Given the description of an element on the screen output the (x, y) to click on. 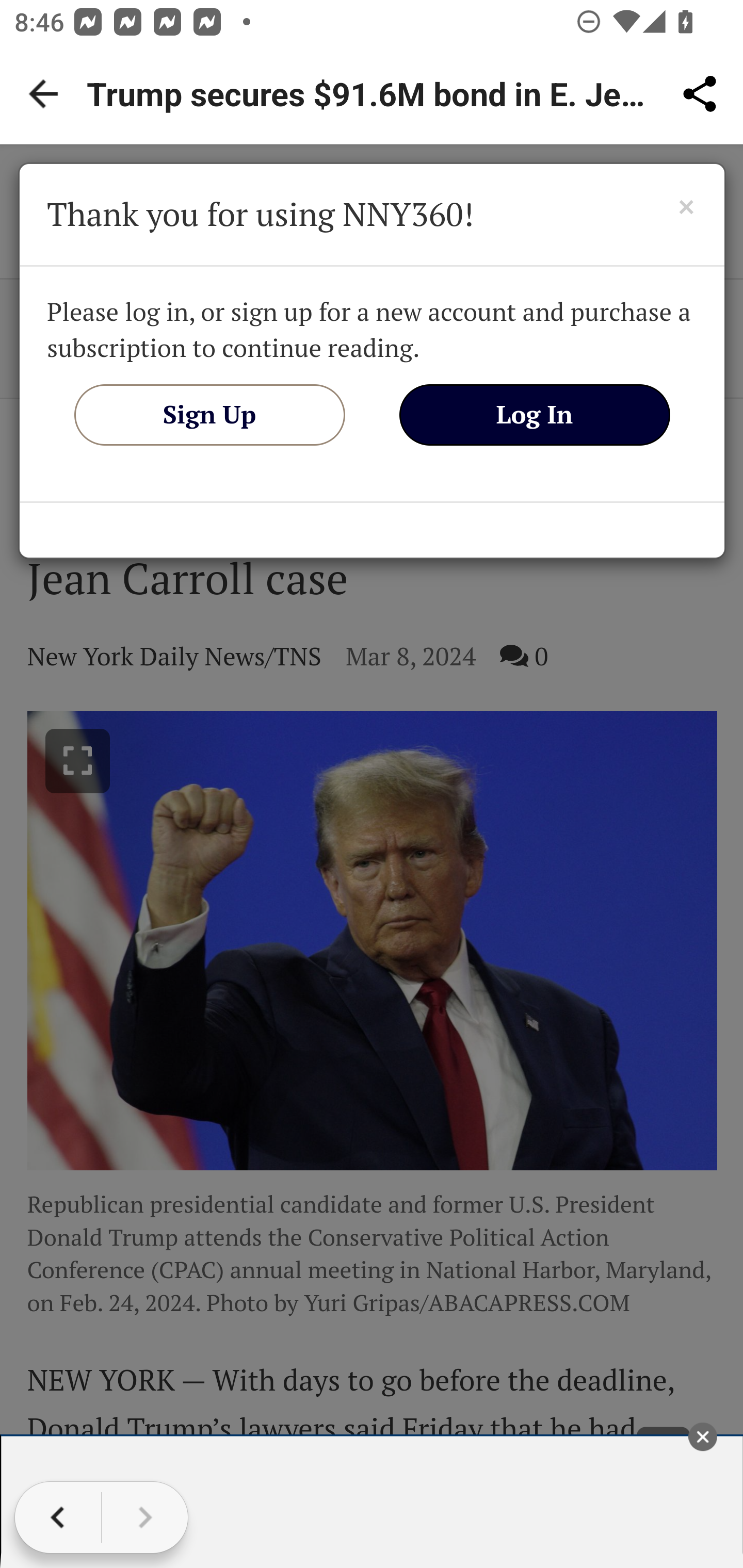
Sign Up (209, 413)
Log In (534, 413)
